Given the description of an element on the screen output the (x, y) to click on. 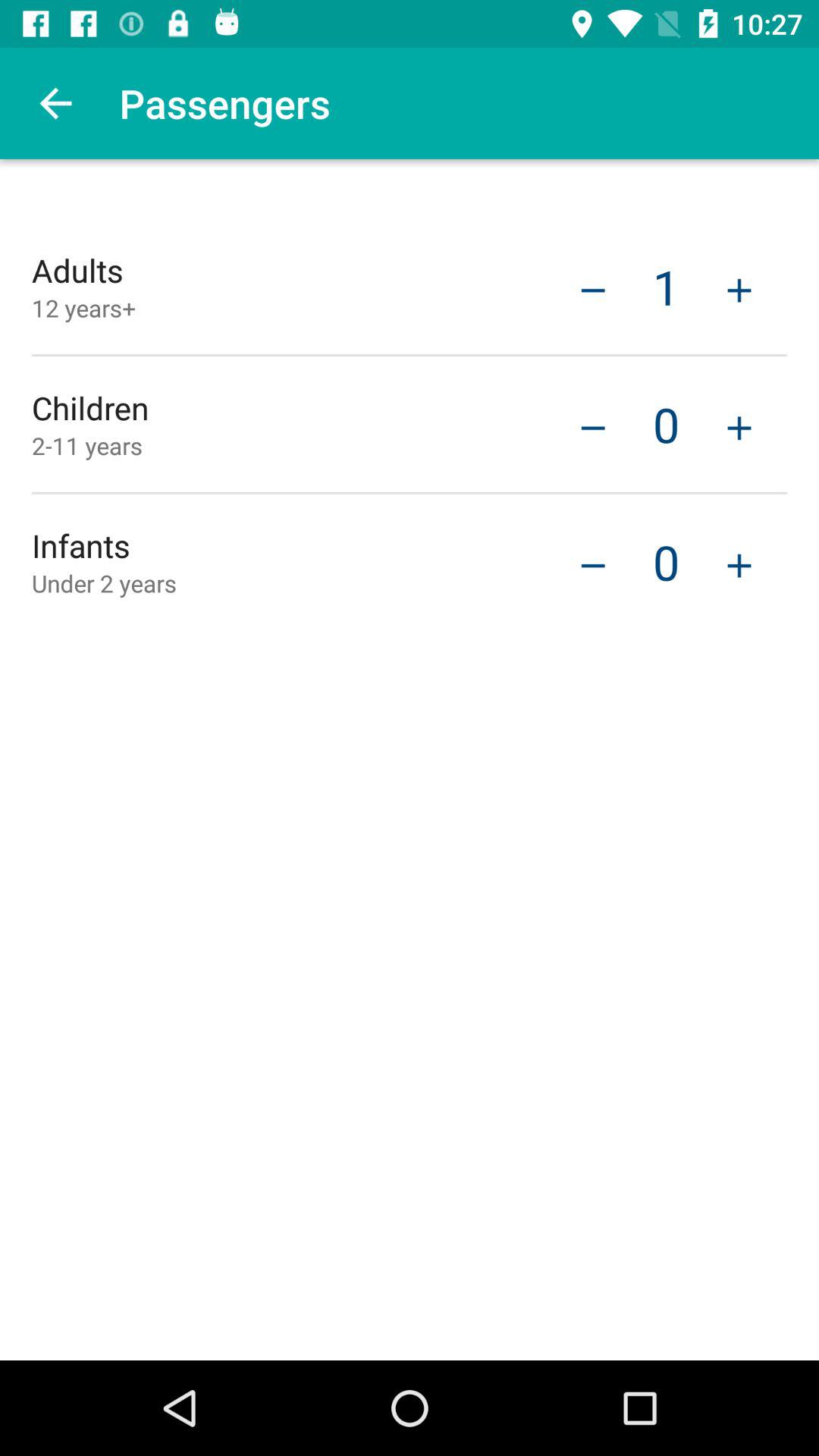
turn off the icon next to 0 item (592, 563)
